Given the description of an element on the screen output the (x, y) to click on. 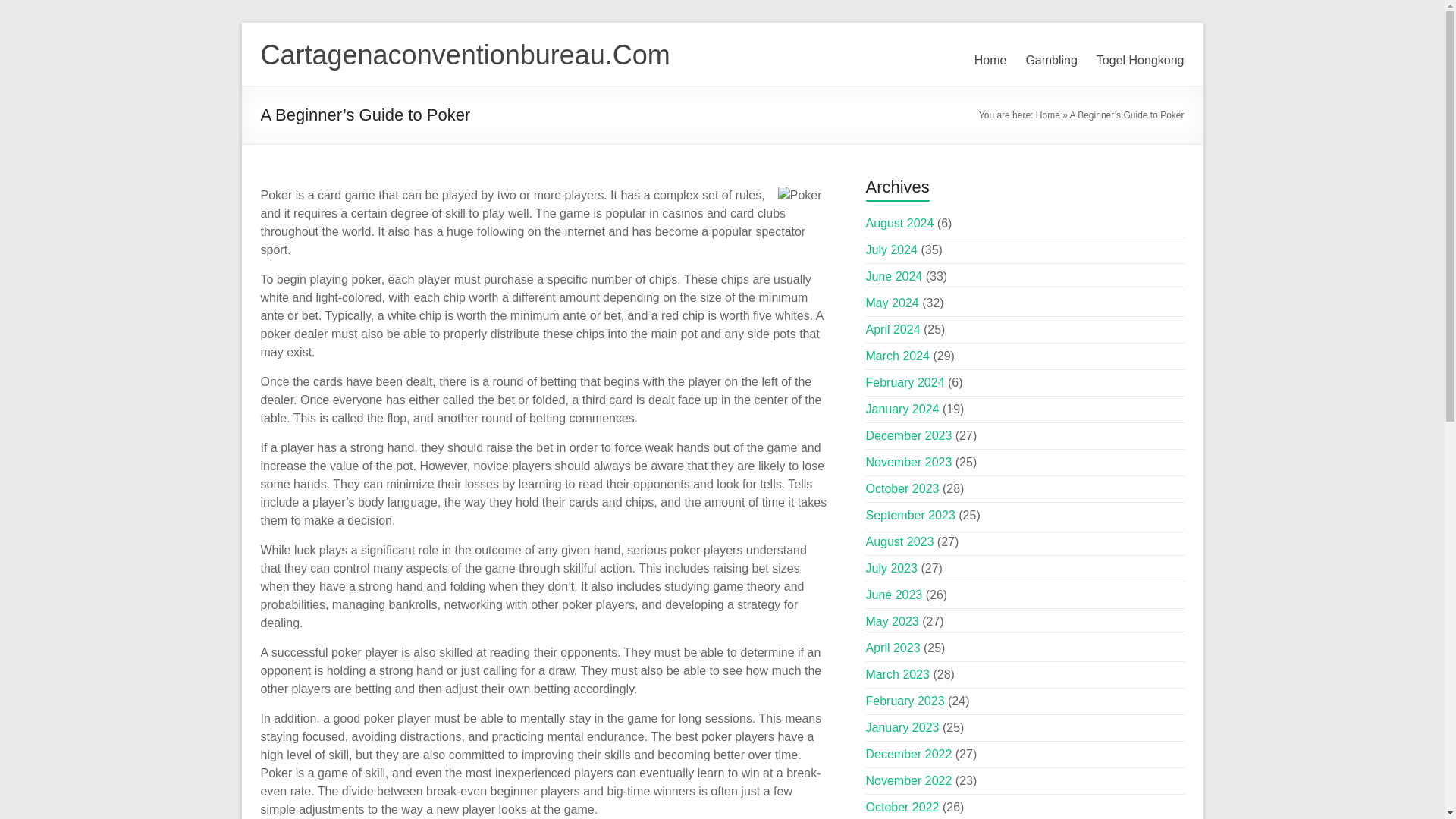
October 2023 (902, 488)
July 2023 (892, 567)
Gambling (1051, 60)
November 2023 (909, 461)
December 2023 (909, 435)
February 2023 (905, 700)
Togel Hongkong (1140, 60)
August 2024 (900, 223)
February 2024 (905, 382)
